Given the description of an element on the screen output the (x, y) to click on. 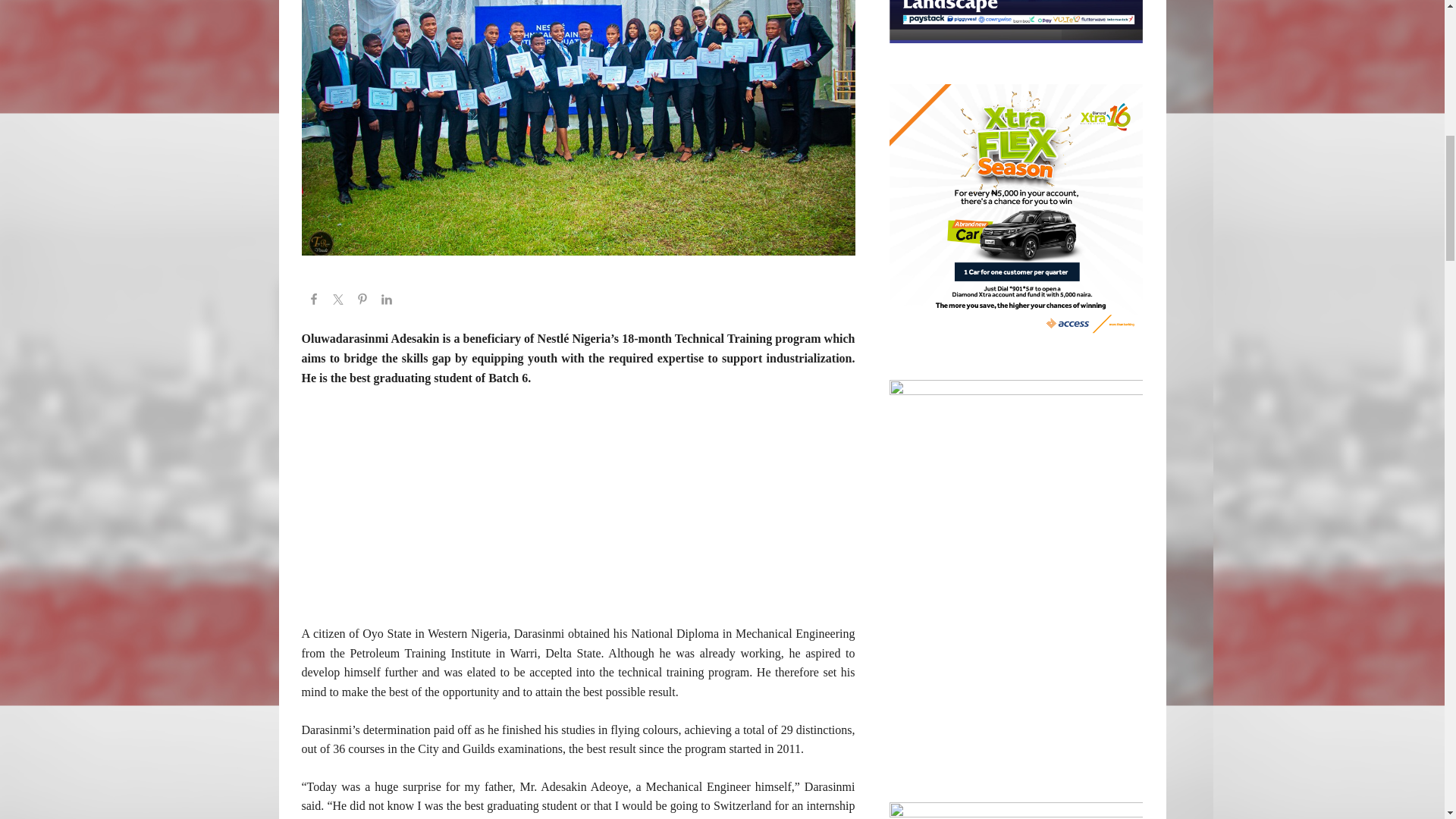
Share on Pinterest (362, 301)
Share on LinkedIn (386, 301)
Share on Facebook (313, 301)
Share on Twitter (338, 301)
